Given the description of an element on the screen output the (x, y) to click on. 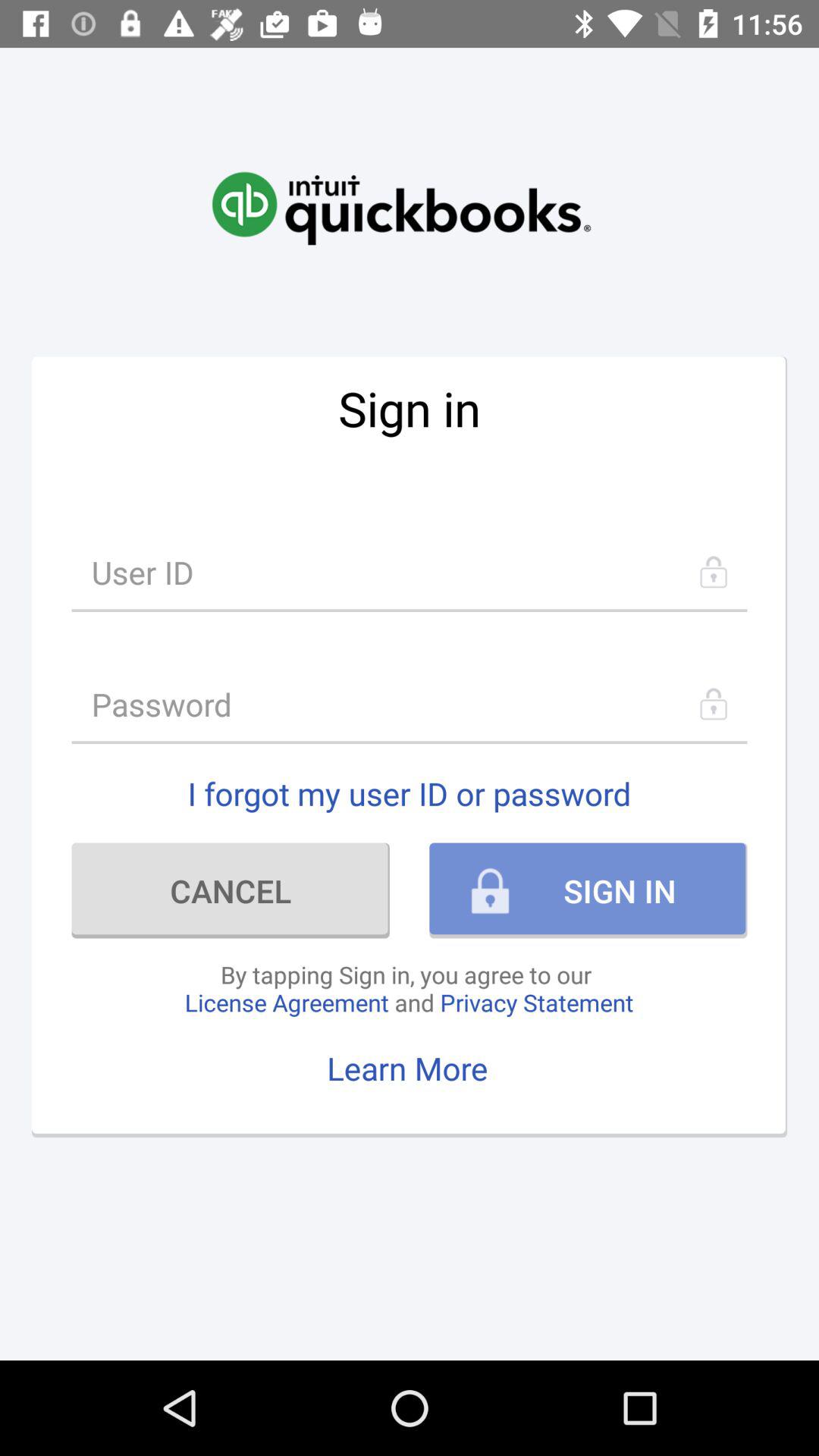
open cancel item (230, 890)
